Given the description of an element on the screen output the (x, y) to click on. 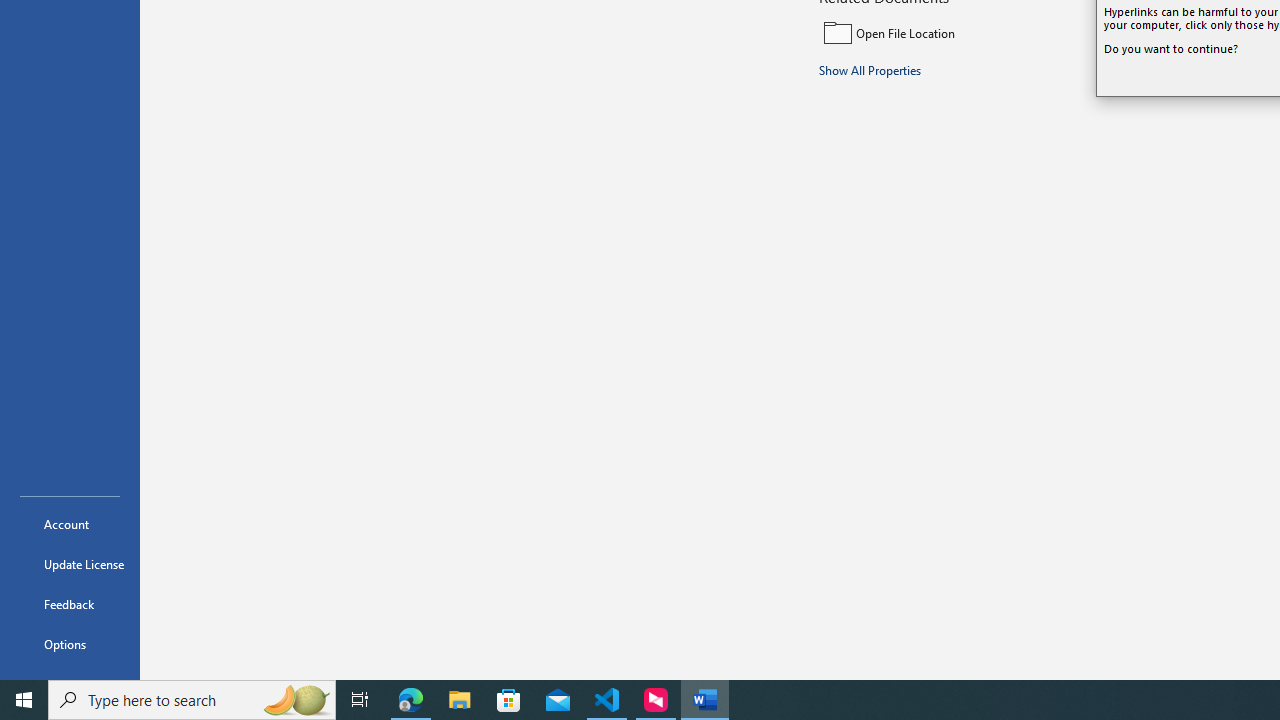
Options (69, 643)
Microsoft Edge - 1 running window (411, 699)
Open File Location (953, 32)
Show All Properties (870, 69)
Update License (69, 563)
Feedback (69, 603)
Account (69, 523)
File Explorer (460, 699)
